Given the description of an element on the screen output the (x, y) to click on. 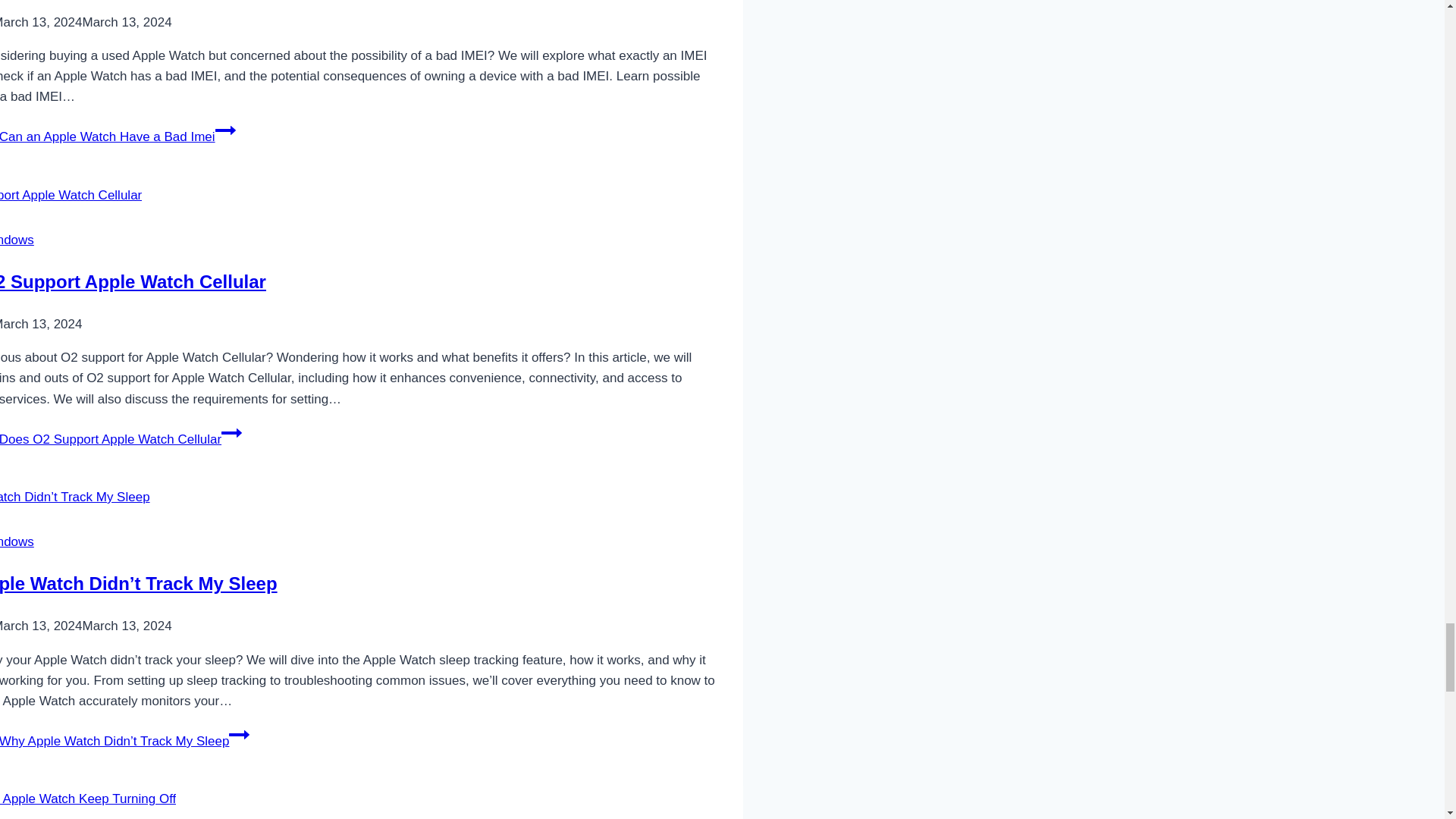
Does O2 Support Apple Watch Cellular (133, 281)
Read More Does O2 Support Apple Watch CellularContinue (120, 439)
Continue (225, 129)
Continue (238, 734)
Read More Can an Apple Watch Have a Bad ImeiContinue (117, 136)
Windows (16, 239)
Continue (231, 432)
Windows (16, 541)
